Given the description of an element on the screen output the (x, y) to click on. 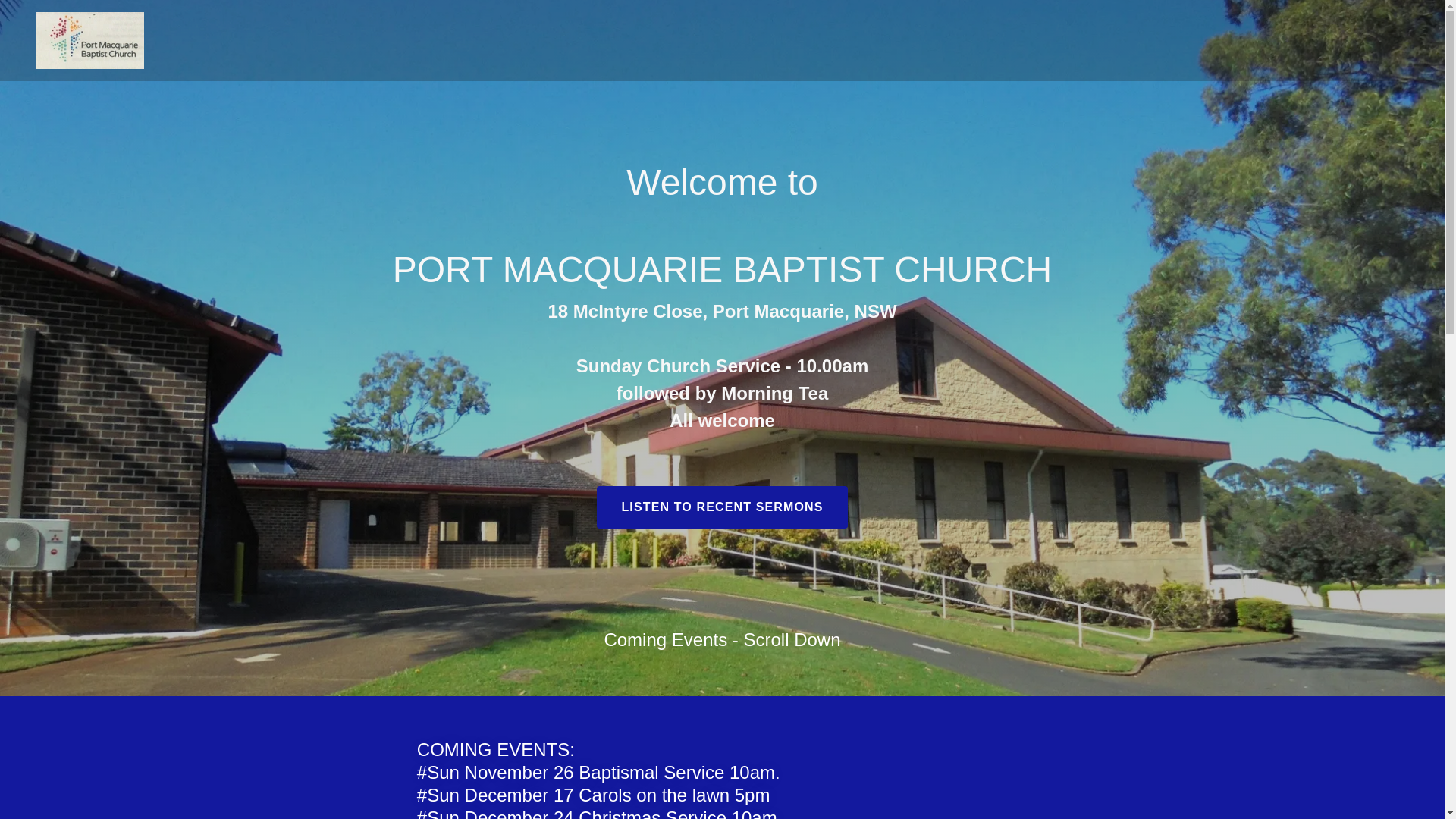
LISTEN TO RECENT SERMONS Element type: text (721, 507)
PORT MACQUARIE BAPTIST CHURCH Element type: hover (90, 39)
